Given the description of an element on the screen output the (x, y) to click on. 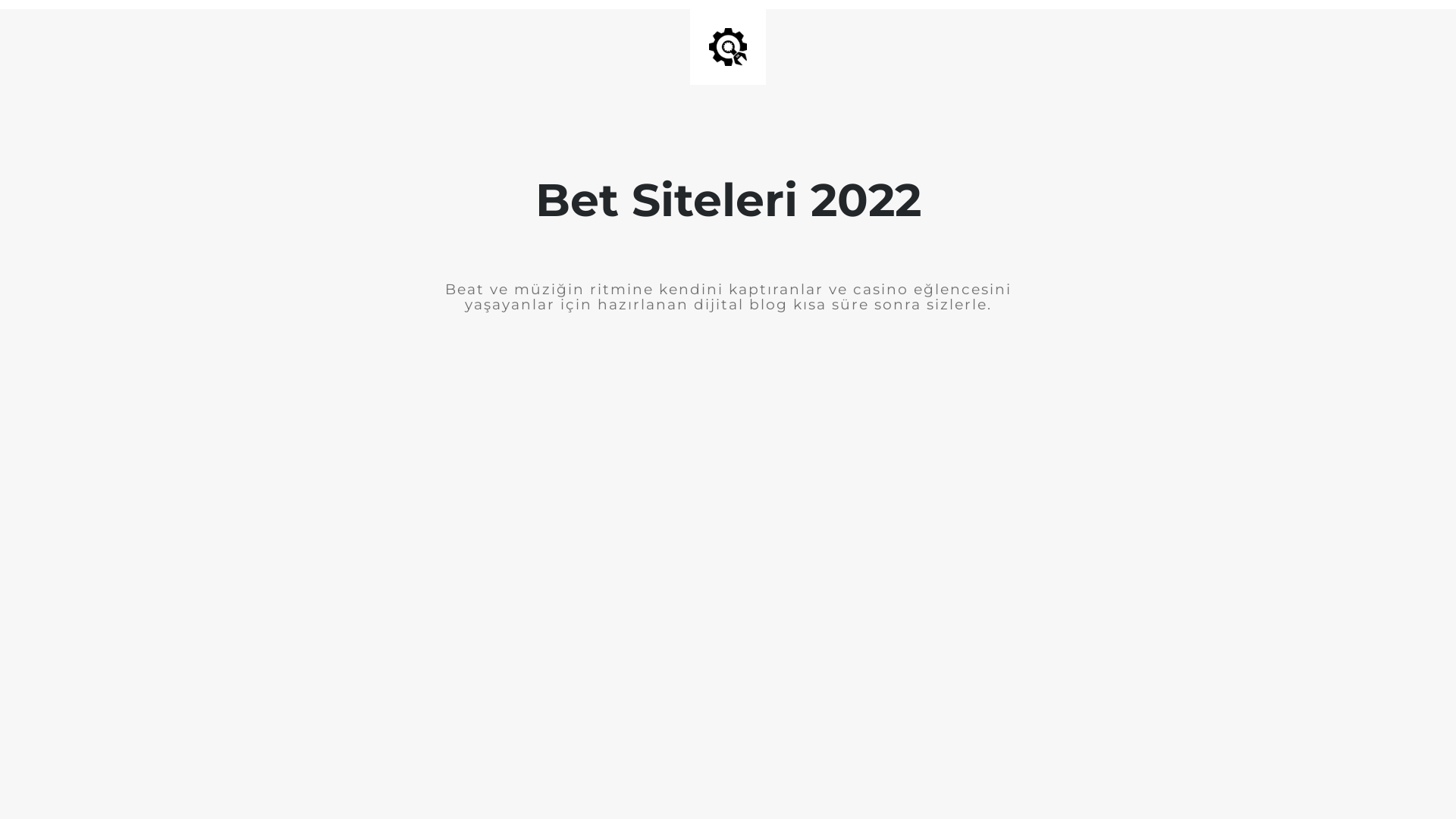
Site is Under Construction Element type: hover (727, 46)
